Given the description of an element on the screen output the (x, y) to click on. 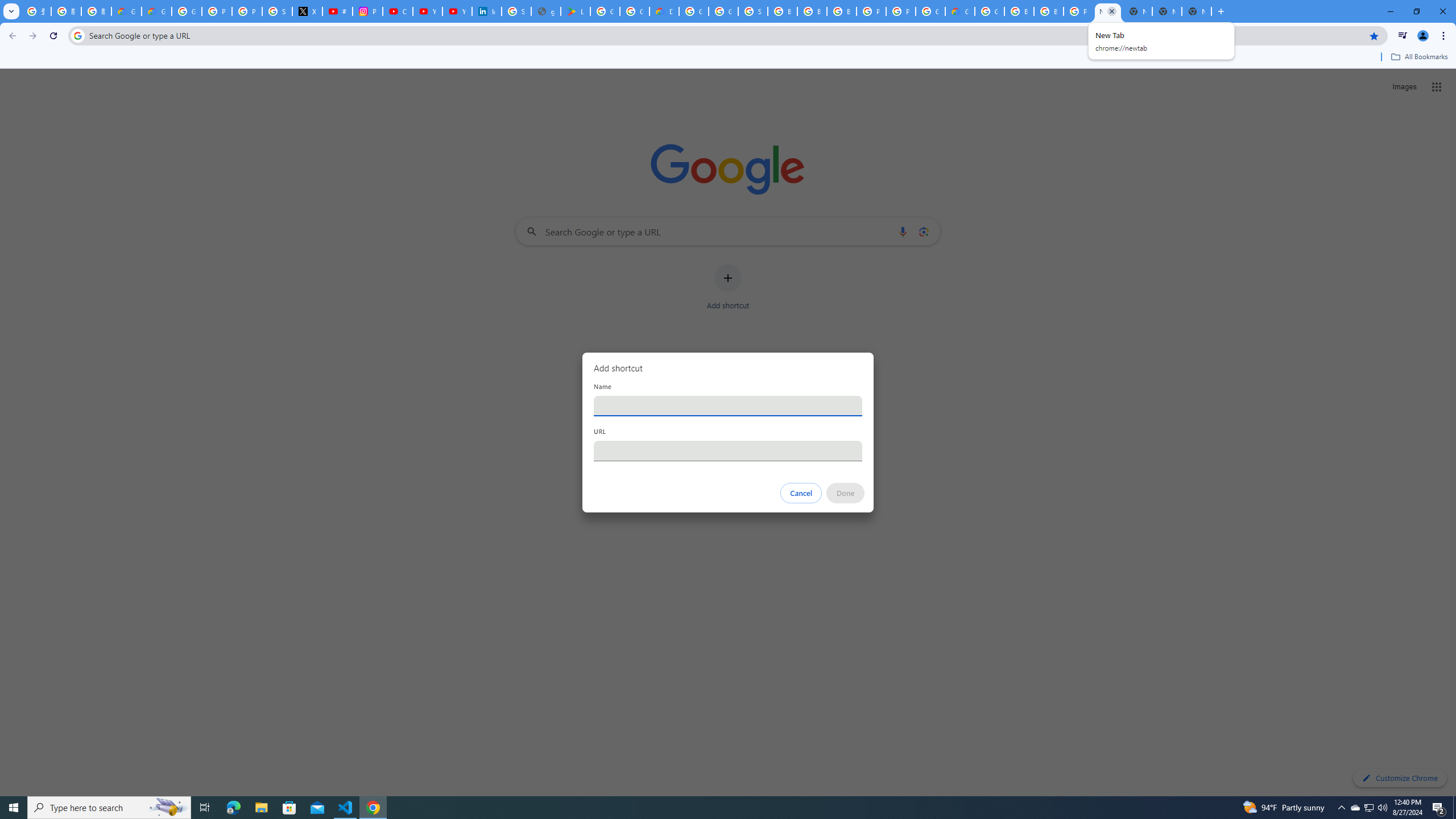
Search icon (77, 35)
Browse Chrome as a guest - Computer - Google Chrome Help (1048, 11)
Google Cloud Estimate Summary (959, 11)
Last Shelter: Survival - Apps on Google Play (575, 11)
Google Cloud Privacy Notice (126, 11)
Browse Chrome as a guest - Computer - Google Chrome Help (1018, 11)
Sign in - Google Accounts (277, 11)
Browse Chrome as a guest - Computer - Google Chrome Help (841, 11)
X (306, 11)
